Given the description of an element on the screen output the (x, y) to click on. 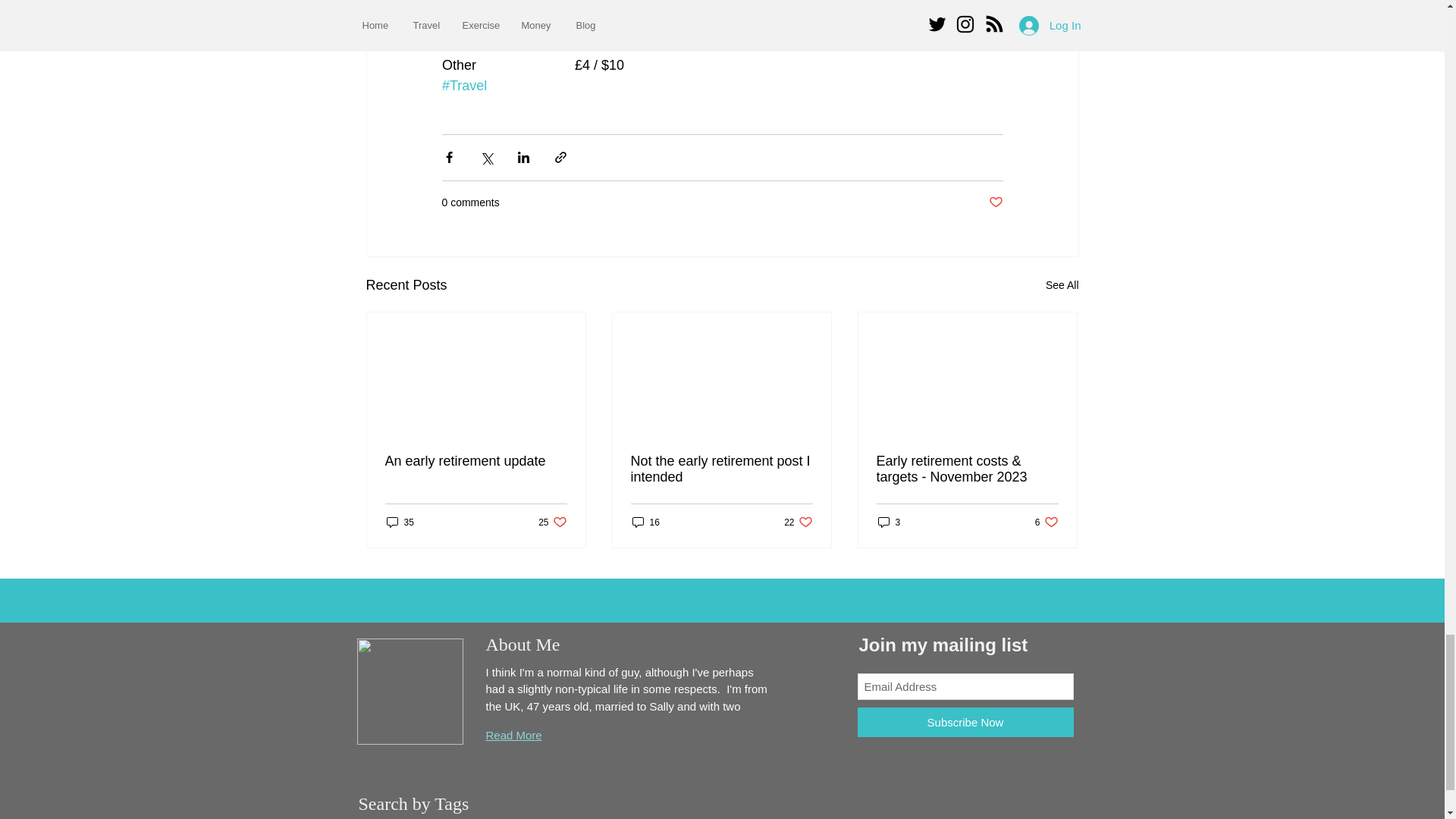
Post not marked as liked (995, 201)
Not the early retirement post I intended (1046, 522)
16 (721, 469)
An early retirement update (645, 522)
See All (476, 461)
35 (1061, 285)
Read More (798, 522)
